Given the description of an element on the screen output the (x, y) to click on. 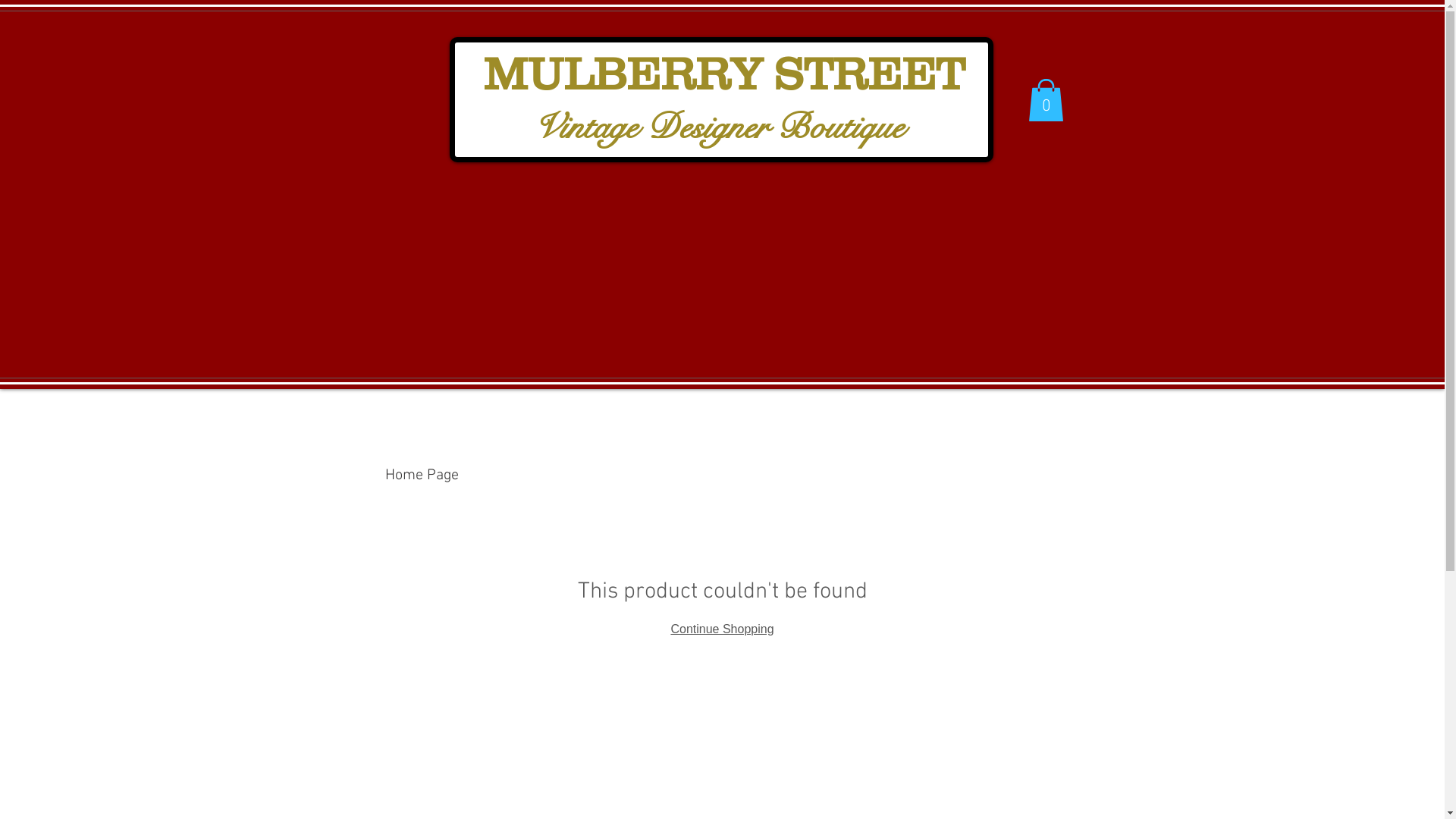
Home Page Element type: text (421, 475)
 MULBERRY STREET Element type: text (717, 77)
0 Element type: text (1045, 99)
Continue Shopping Element type: text (721, 628)
